Given the description of an element on the screen output the (x, y) to click on. 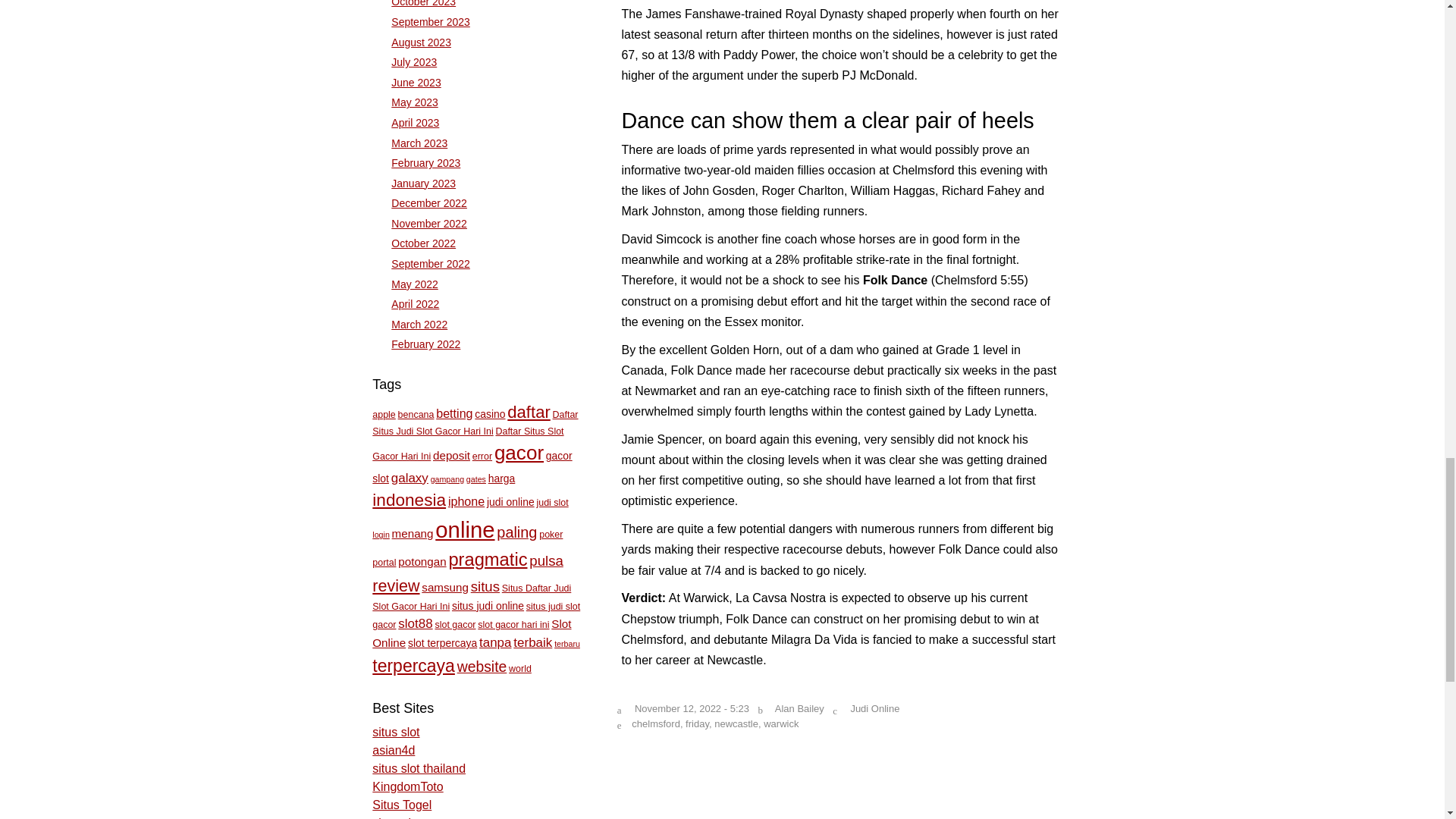
Judi Online (874, 708)
Alan Bailey (799, 708)
November 12, 2022 - 5:23 (691, 708)
friday (697, 723)
warwick (779, 723)
chelmsford (655, 723)
newcastle (736, 723)
Posts by Alan Bailey (799, 708)
